Given the description of an element on the screen output the (x, y) to click on. 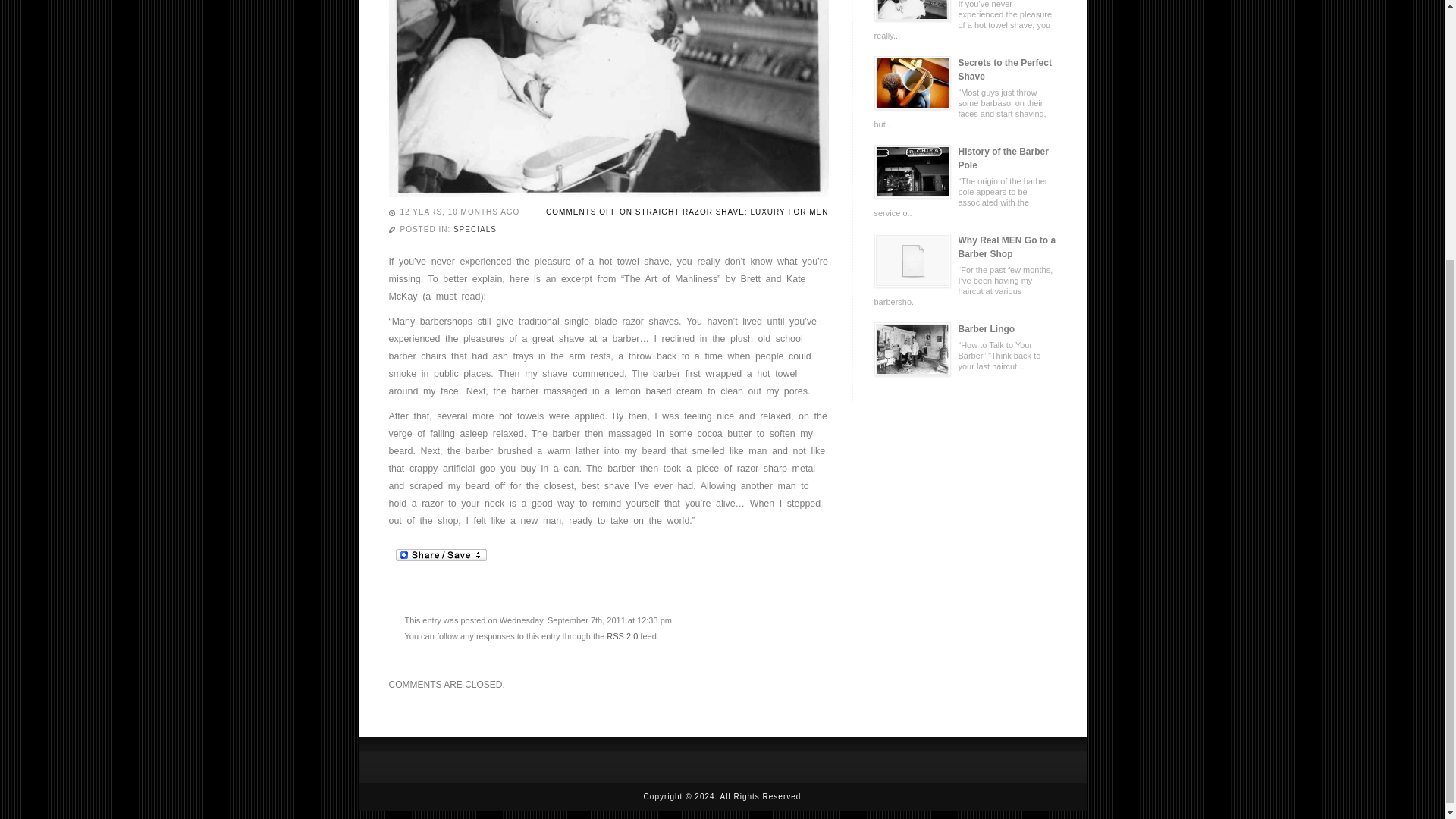
Barber Lingo (964, 328)
RSS 2.0 (622, 634)
Secrets to the Perfect Shave (964, 69)
Why Real MEN Go to a Barber Shop (912, 260)
History of the Barber Pole (964, 157)
Secrets to the Perfect Shave (964, 69)
History of the Barber Pole (911, 171)
Why Real MEN Go to a Barber Shop (964, 247)
Why Real MEN Go to a Barber Shop (911, 260)
History of the Barber Pole (964, 157)
Barber Lingo (911, 348)
SPECIALS (474, 229)
Straight Razor Shave: Luxury for Men (911, 10)
Barber Lingo (964, 328)
Why Real MEN Go to a Barber Shop (964, 247)
